Given the description of an element on the screen output the (x, y) to click on. 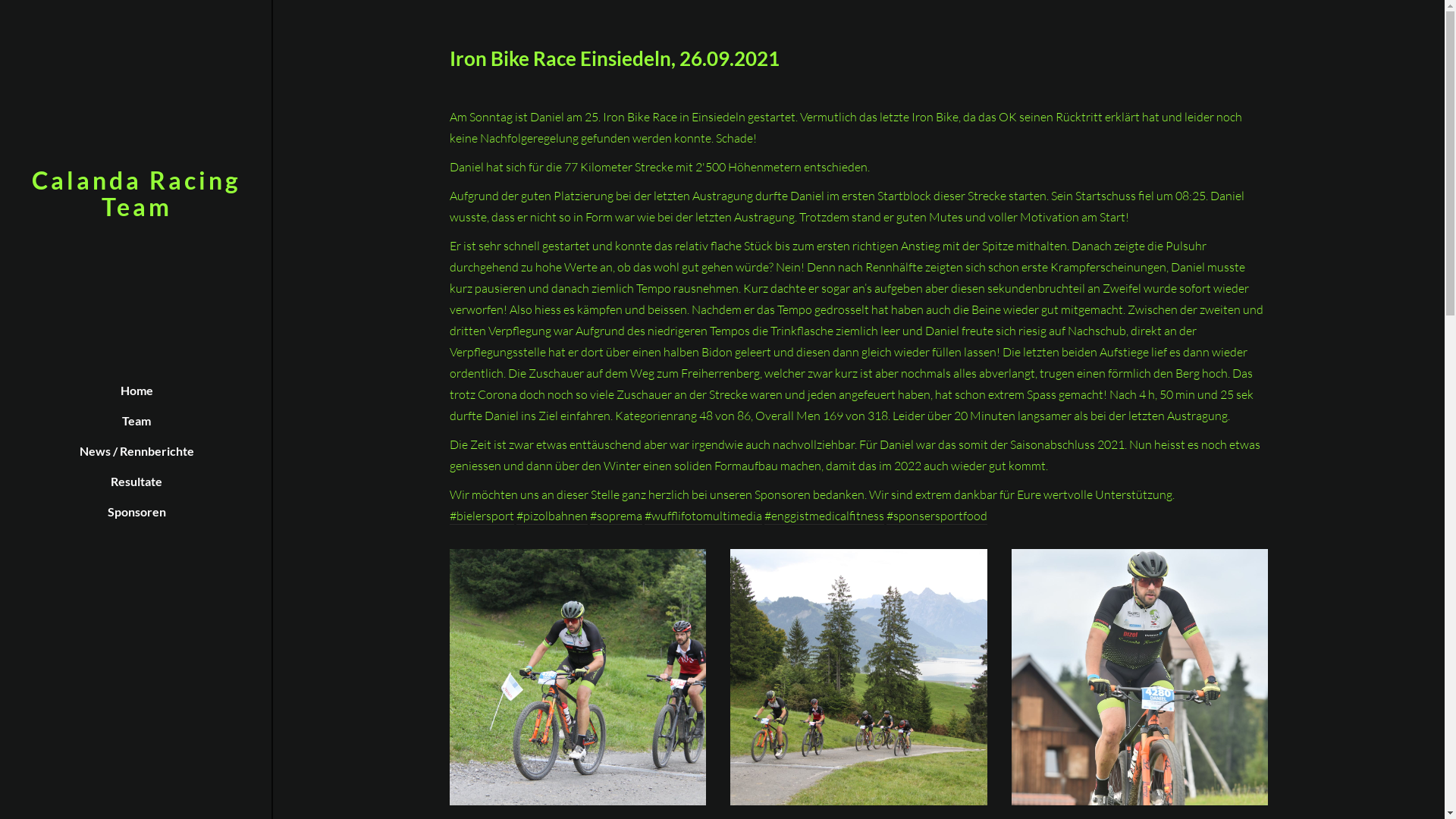
Calanda Racing Team Element type: text (136, 193)
#pizolbahnen Element type: text (550, 515)
News / Rennberichte Element type: text (136, 451)
Resultate Element type: text (136, 481)
#bielersport Element type: text (480, 515)
#wufflifotomultimedia Element type: text (703, 515)
Home Element type: text (136, 390)
#enggistmedicalfitness Element type: text (824, 515)
#sponsersportfood Element type: text (935, 515)
Team Element type: text (136, 420)
Sponsoren Element type: text (136, 511)
#soprema Element type: text (615, 515)
